Given the description of an element on the screen output the (x, y) to click on. 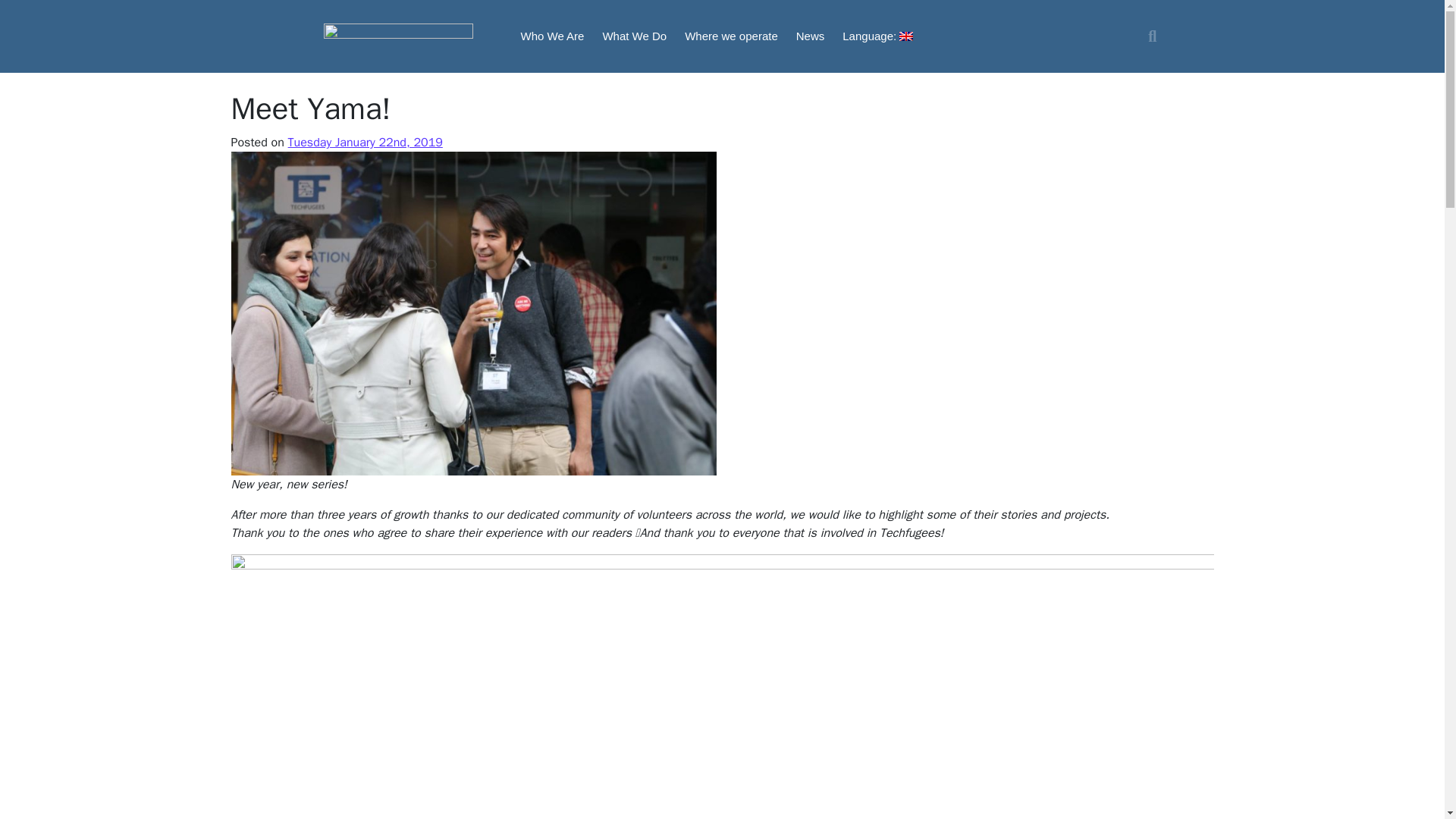
Who We Are (551, 35)
English (876, 35)
Where we operate (731, 35)
What We Do (633, 35)
